Given the description of an element on the screen output the (x, y) to click on. 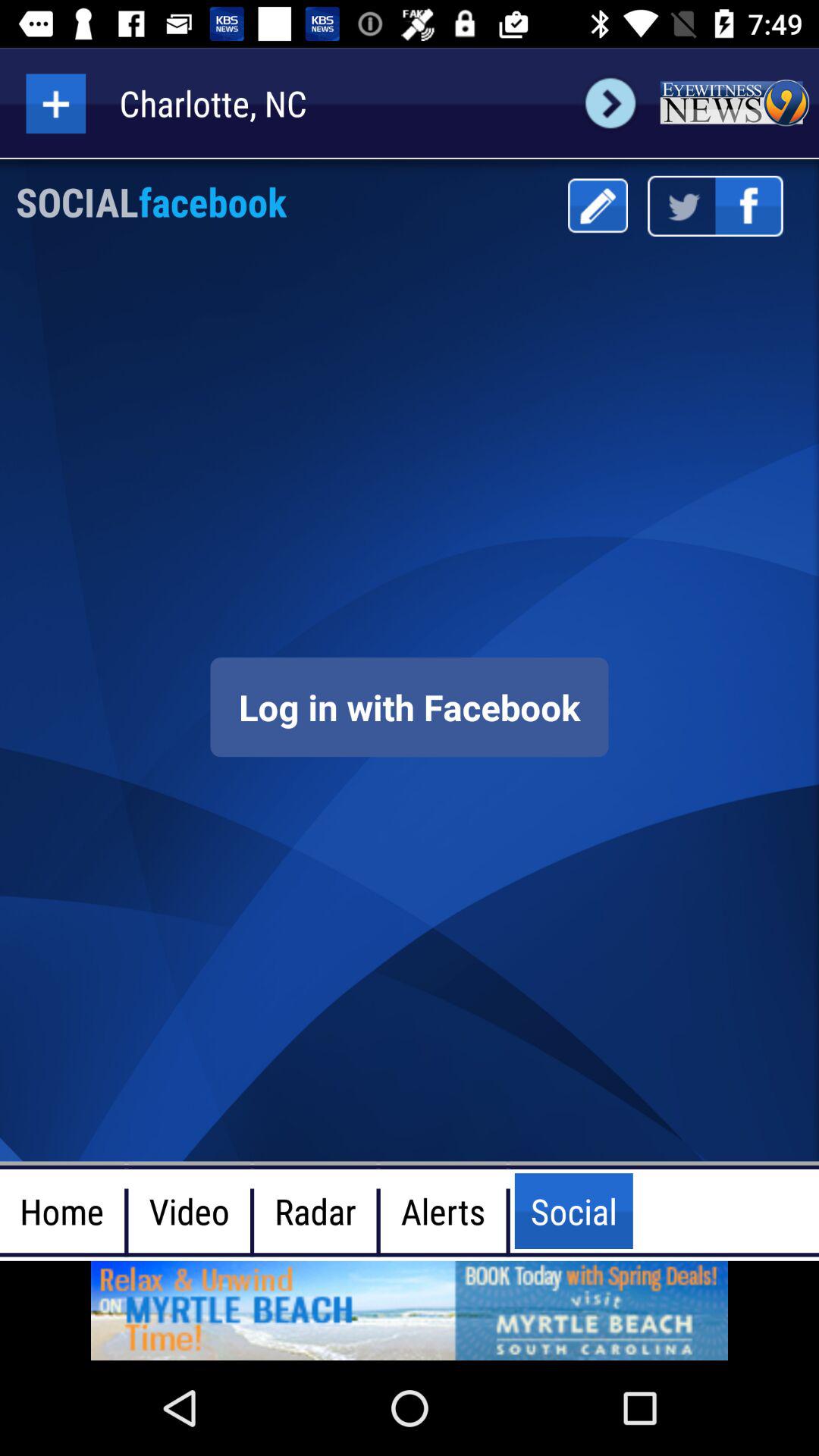
the writing letter is correct range (597, 206)
